Given the description of an element on the screen output the (x, y) to click on. 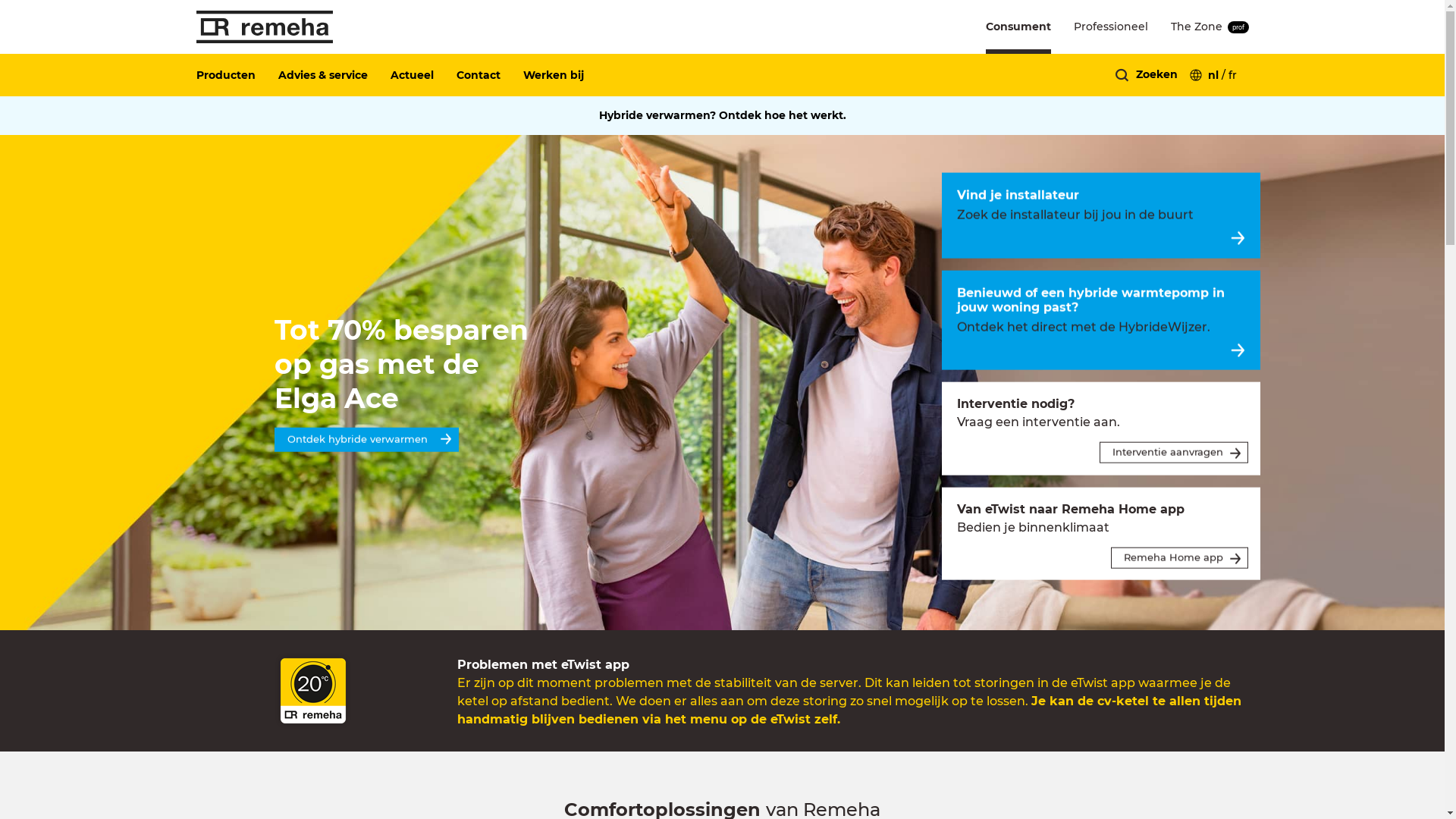
Professioneel Element type: text (1110, 26)
nl / fr Element type: text (1212, 74)
The Zone Element type: text (1196, 26)
Remeha Home app Element type: text (1179, 556)
Actueel Element type: text (422, 74)
Advies & service Element type: text (333, 74)
Consument Element type: text (1018, 26)
Zoeken Element type: text (1156, 74)
Interventie aanvragen Element type: text (1173, 452)
Contact Element type: text (489, 74)
Werken bij Element type: text (564, 74)
Hybride verwarmen? Ontdek hoe het werkt. Element type: text (722, 115)
Producten Element type: text (236, 74)
Ontdek hybride verwarmen Element type: text (366, 439)
